Given the description of an element on the screen output the (x, y) to click on. 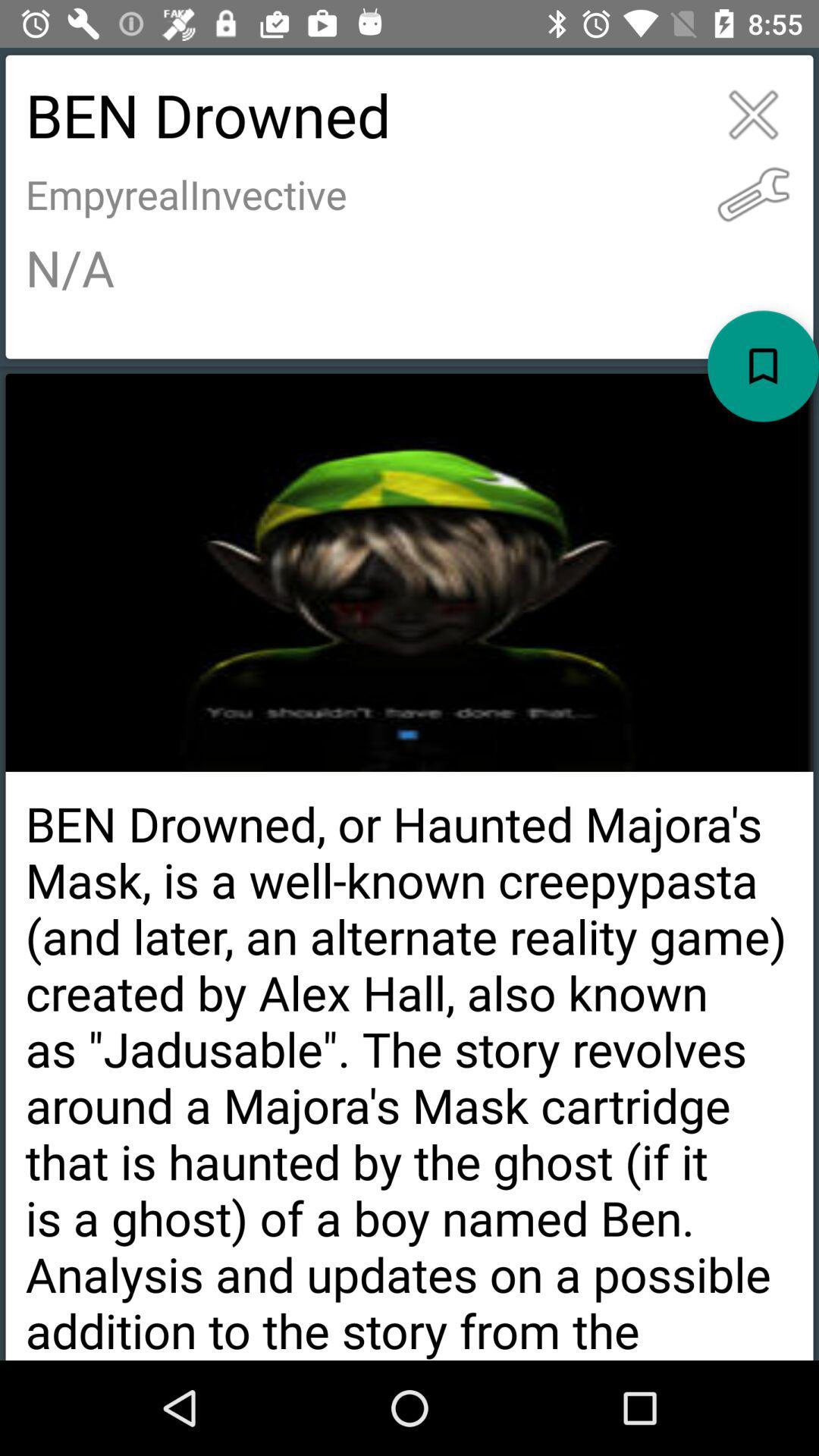
launch item below n/a item (763, 366)
